Given the description of an element on the screen output the (x, y) to click on. 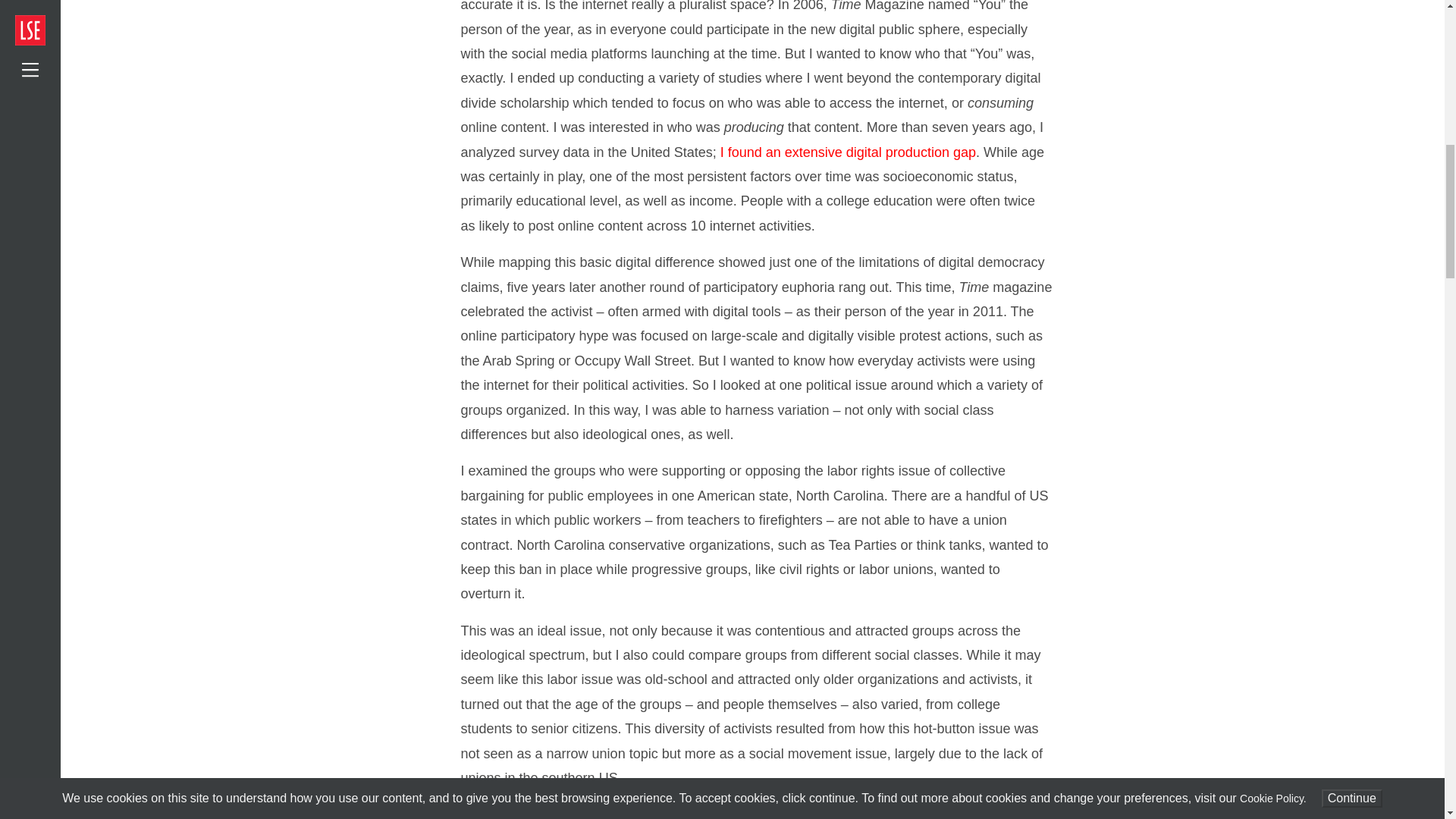
I found an extensive digital production gap (847, 151)
